Given the description of an element on the screen output the (x, y) to click on. 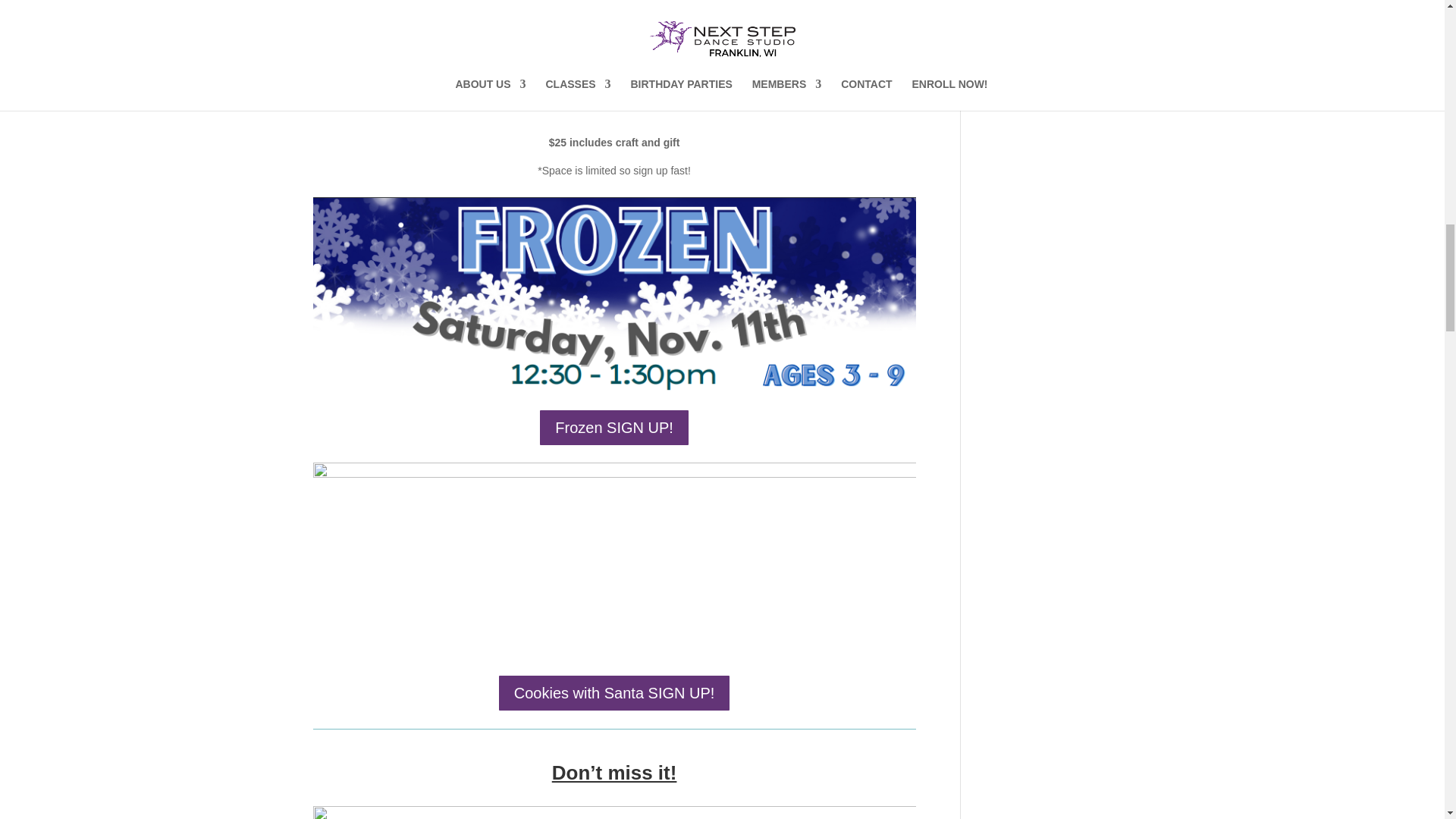
a1d9e84d-9997-4901-bc83-d961078a2495 (614, 812)
38a552f0-5bdf-40ee-9af5-40544c704215 (614, 294)
Cookies with Santa SIGN UP! (614, 692)
Frozen SIGN UP! (614, 427)
e9f0aa27-8092-4a56-90df-574e6ac94d9e (614, 559)
